Given the description of an element on the screen output the (x, y) to click on. 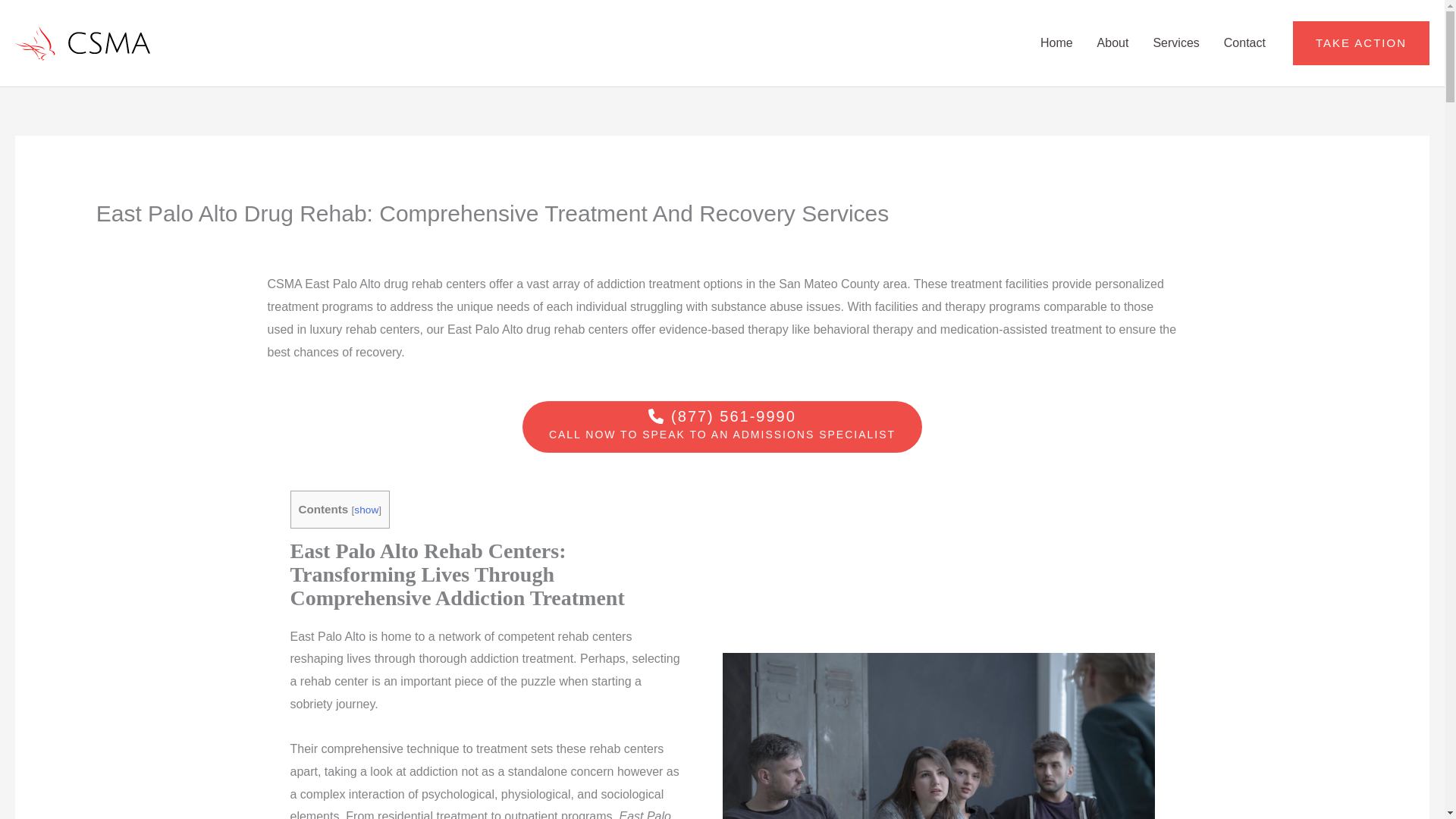
Services (1175, 42)
show (365, 509)
Contact (1244, 42)
About (1112, 42)
TAKE ACTION (1360, 43)
Home (1055, 42)
